Given the description of an element on the screen output the (x, y) to click on. 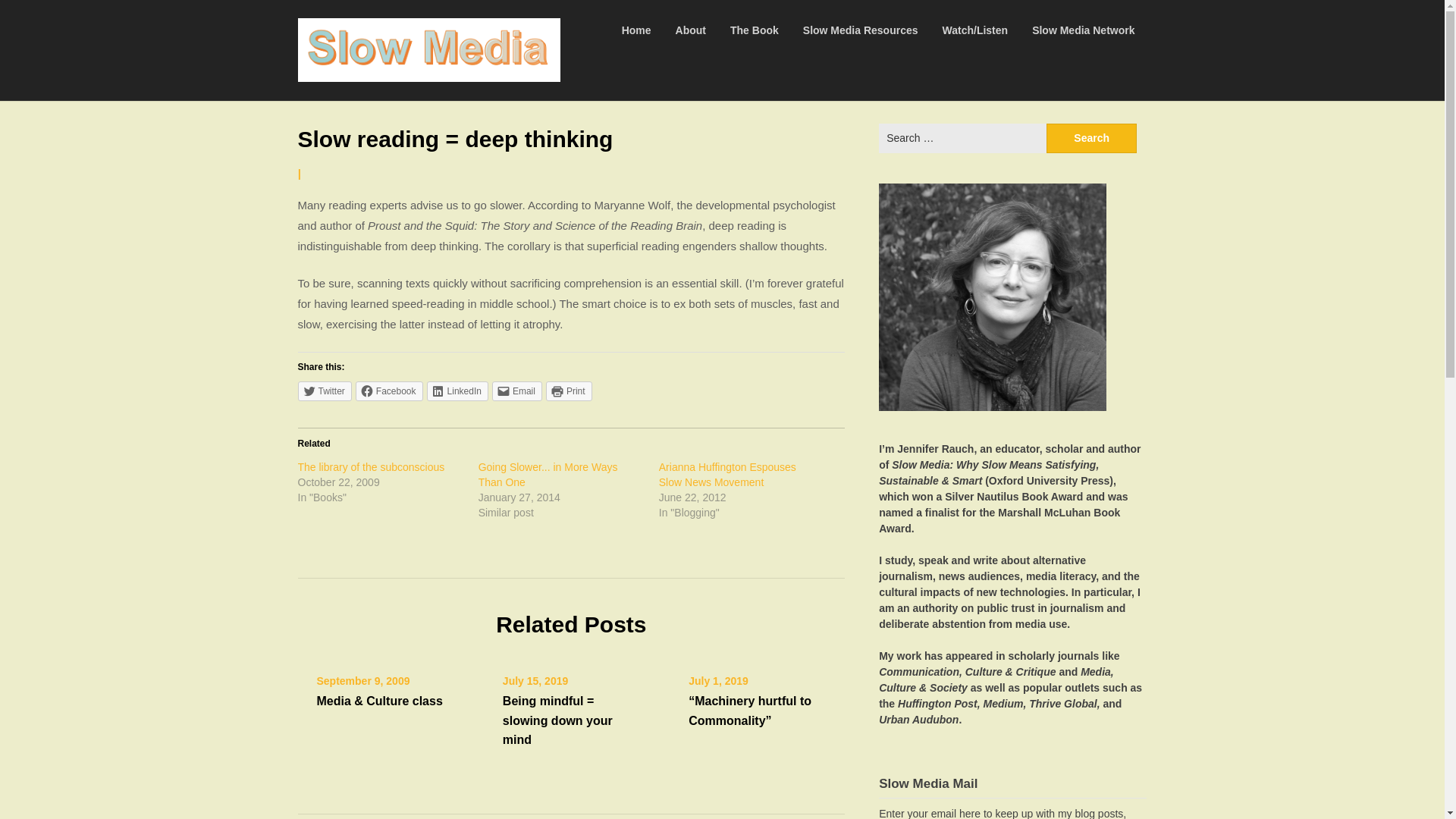
The library of the subconscious (370, 467)
Click to share on Twitter (323, 391)
Home (636, 30)
Click to share on LinkedIn (456, 391)
Search (1091, 138)
Arianna Huffington Espouses Slow News Movement (727, 474)
About (690, 30)
Twitter (323, 391)
Click to share on Facebook (389, 391)
Facebook (389, 391)
Search (1091, 138)
Going Slower... in More Ways Than One (548, 474)
Click to email this to a friend (516, 391)
Arianna Huffington Espouses Slow News Movement (727, 474)
